Given the description of an element on the screen output the (x, y) to click on. 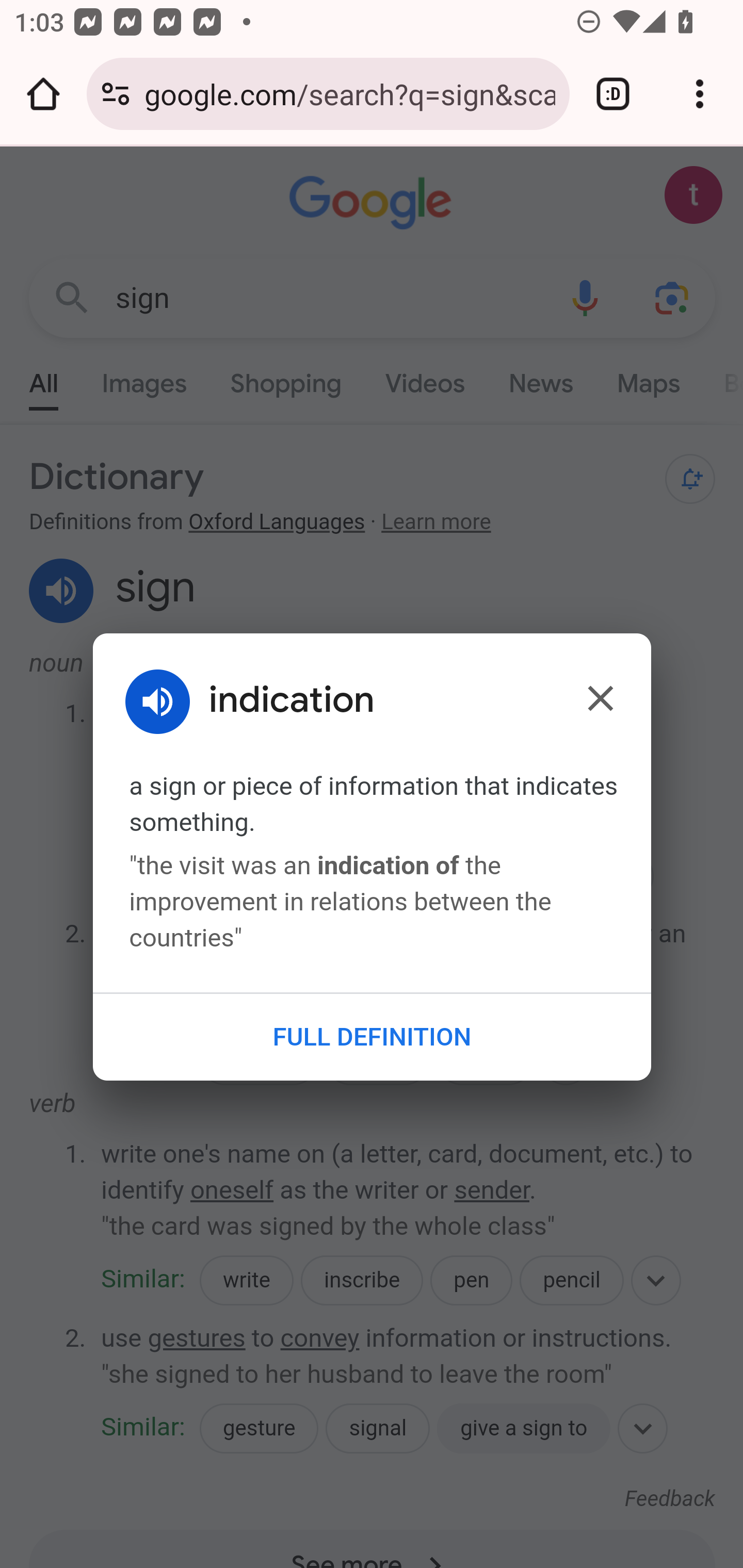
Open the home page (43, 93)
Connection is secure (115, 93)
Switch or close tabs (612, 93)
Customize and control Google Chrome (699, 93)
 Listen  (164, 700)
Exit snippet (600, 697)
FULL DEFINITION (371, 1035)
